Given the description of an element on the screen output the (x, y) to click on. 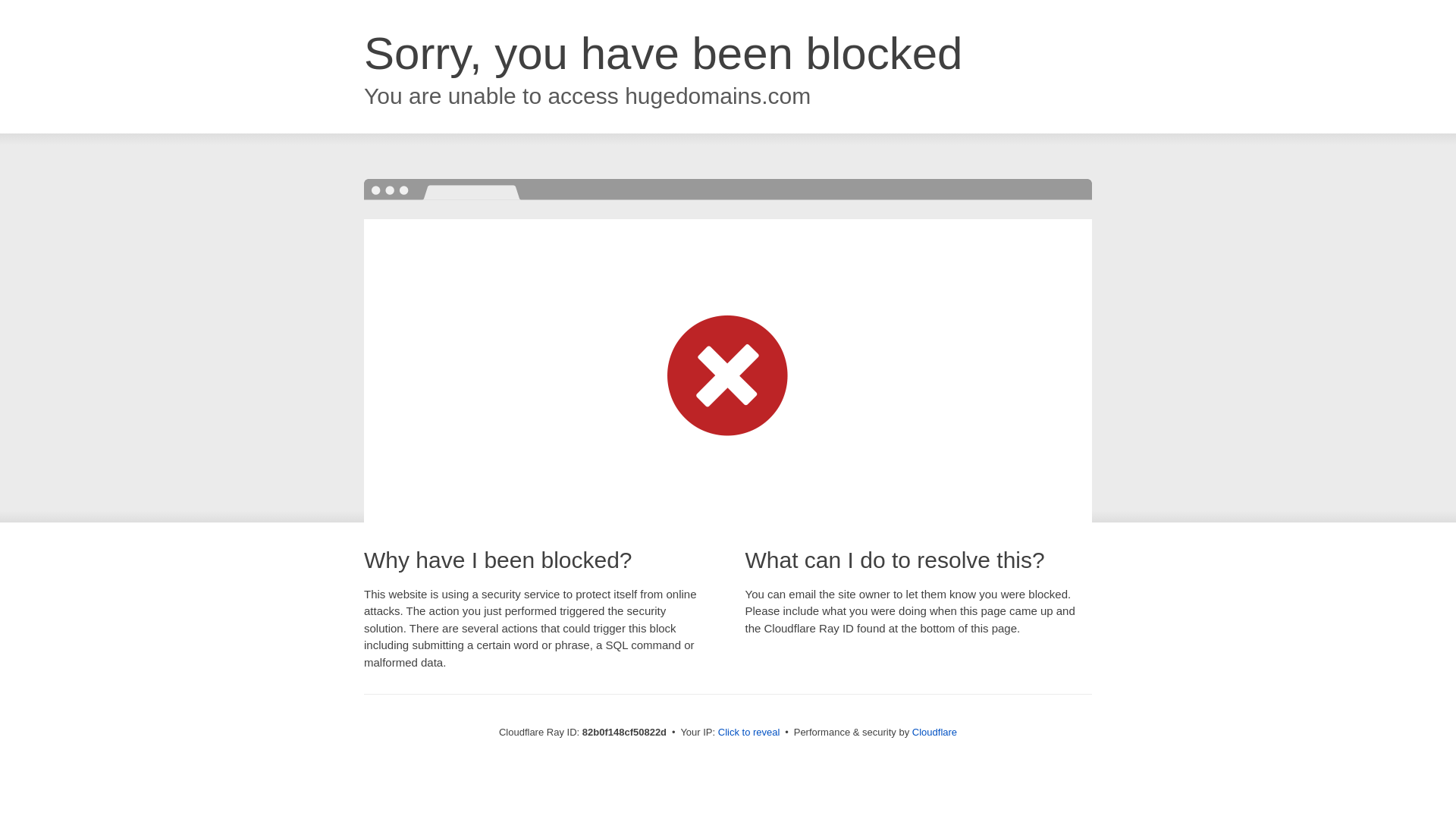
Cloudflare Element type: text (934, 731)
Click to reveal Element type: text (749, 732)
